Given the description of an element on the screen output the (x, y) to click on. 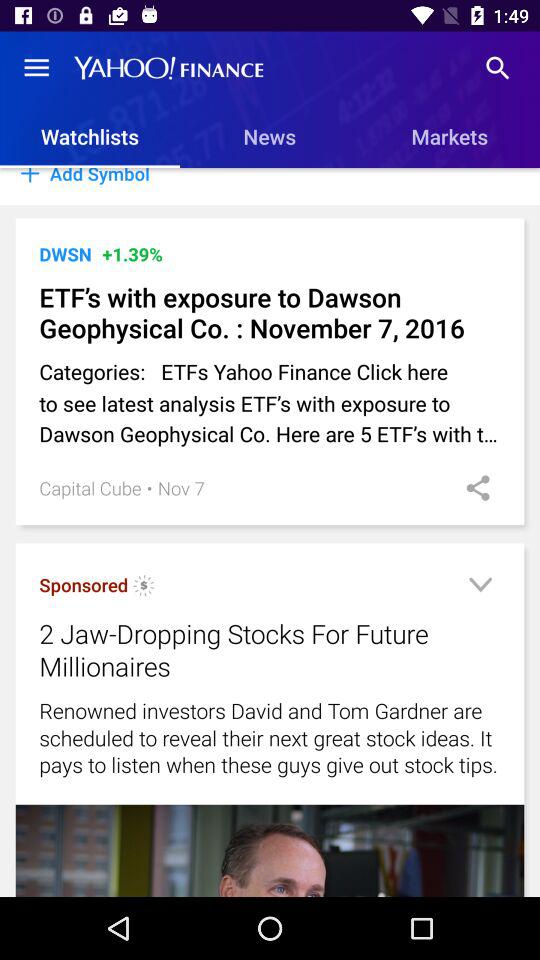
choose item above etf s with icon (65, 253)
